Given the description of an element on the screen output the (x, y) to click on. 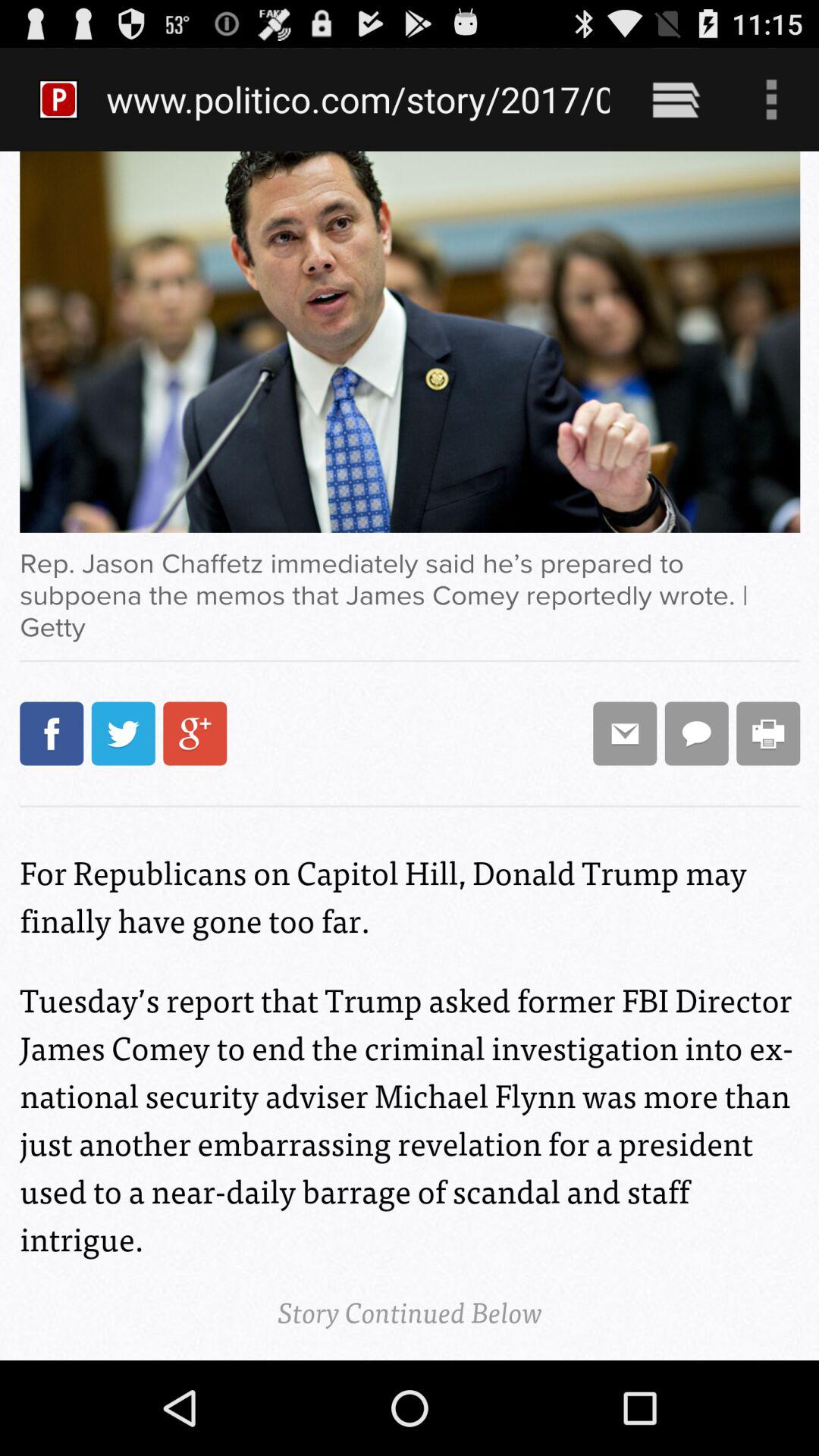
turn on item below the www politico com item (409, 755)
